Given the description of an element on the screen output the (x, y) to click on. 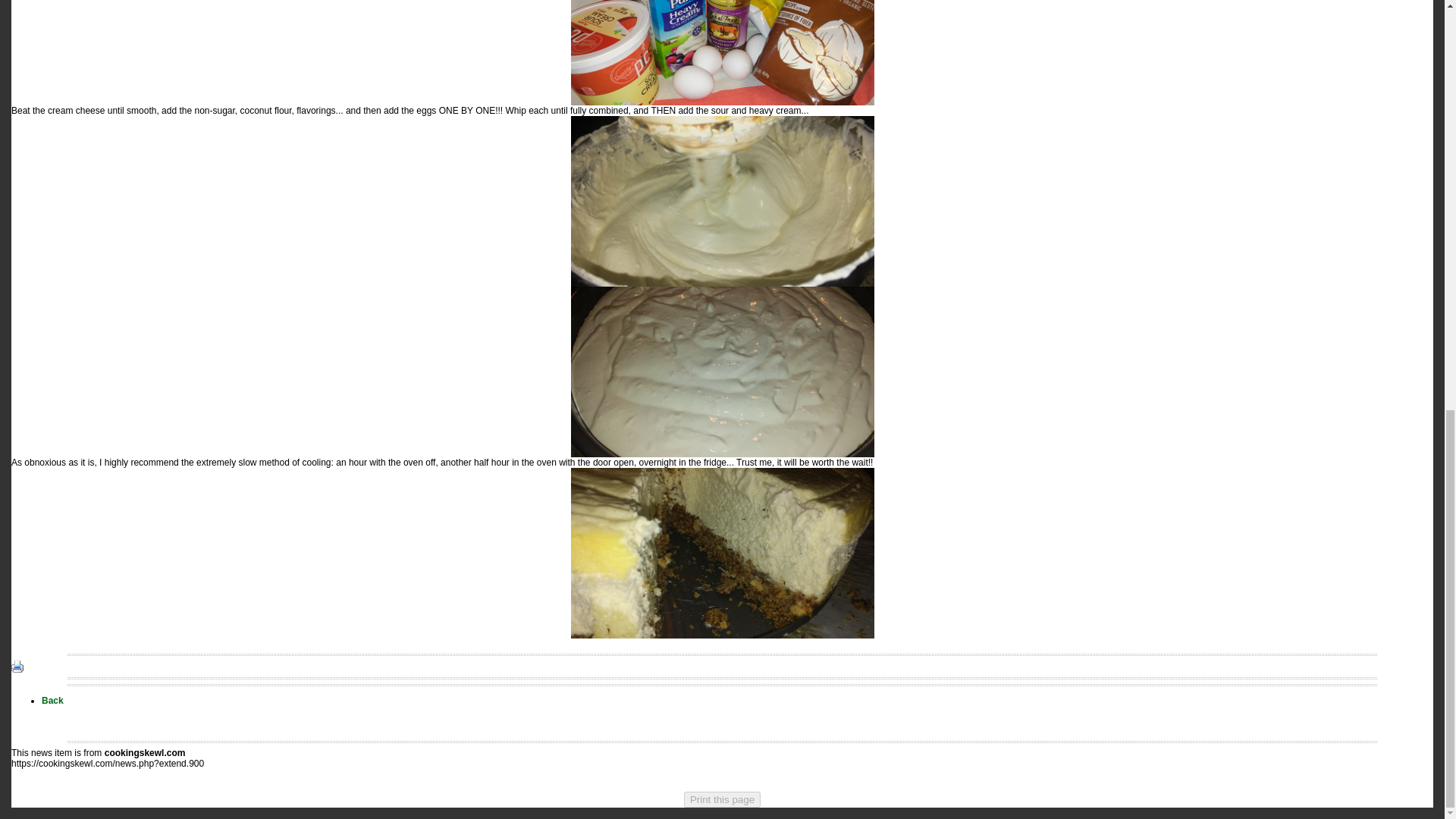
Kchckinterior (721, 552)
Back (53, 700)
printer friendly (17, 665)
Kchcktop (721, 371)
Print this page (722, 799)
Kchckfilling (721, 52)
Kchcksmooth (721, 201)
